Given the description of an element on the screen output the (x, y) to click on. 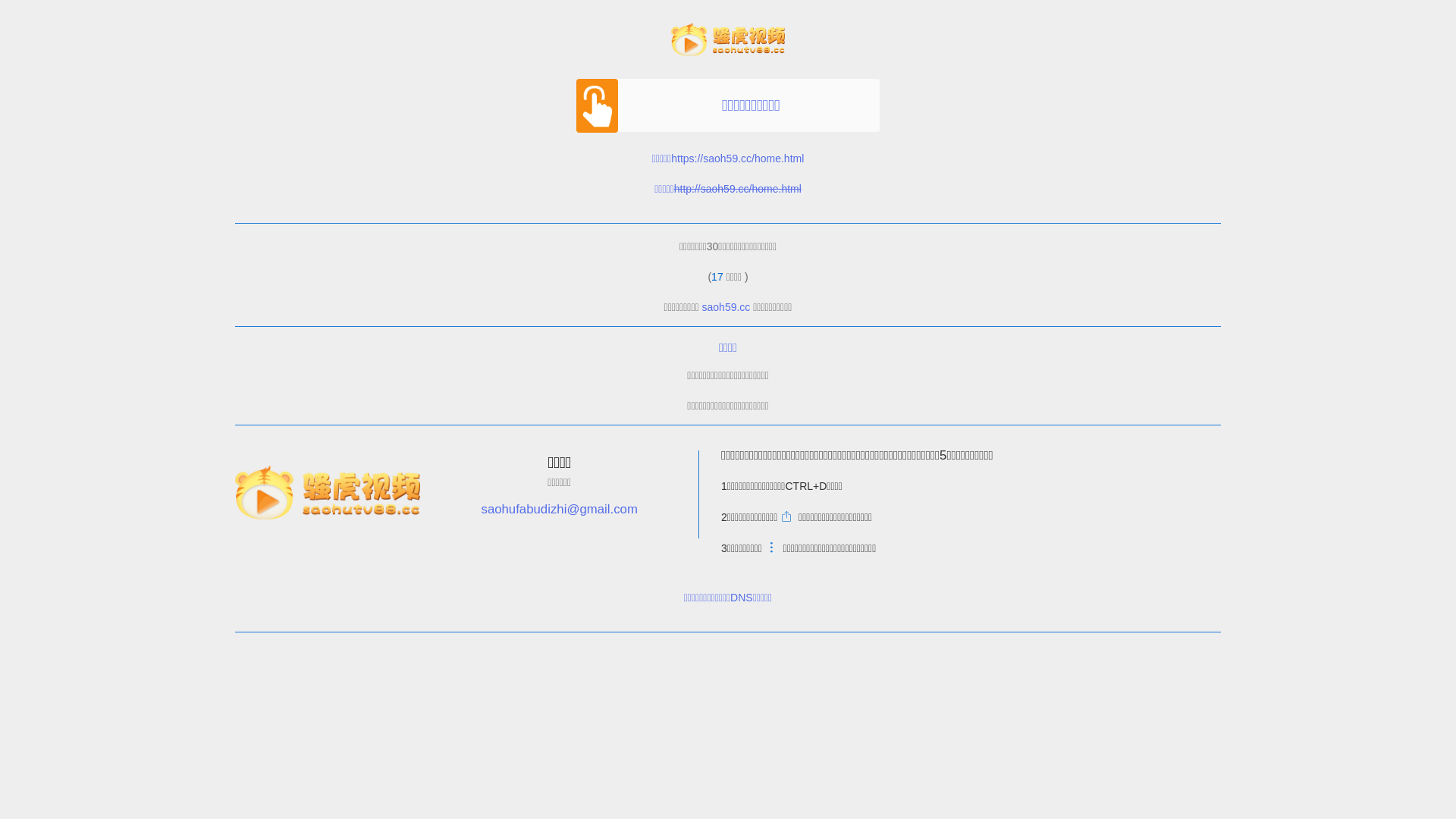
saoh59.cc Element type: text (726, 307)
